Given the description of an element on the screen output the (x, y) to click on. 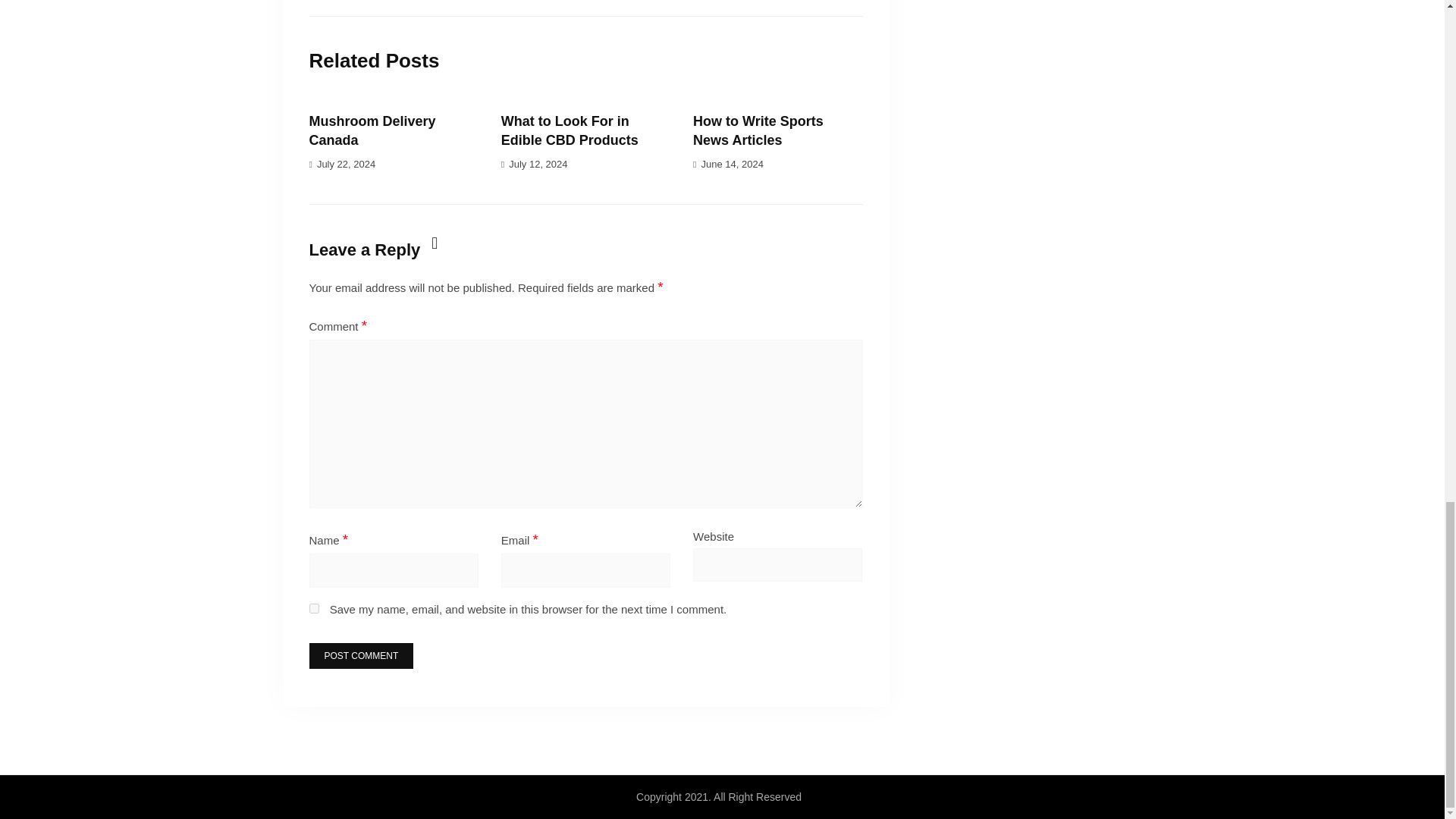
How to Write Sports News Articles (758, 130)
Post Comment (360, 655)
yes (313, 608)
Post Comment (360, 655)
Mushroom Delivery Canada (371, 130)
What to Look For in Edible CBD Products (569, 130)
